Given the description of an element on the screen output the (x, y) to click on. 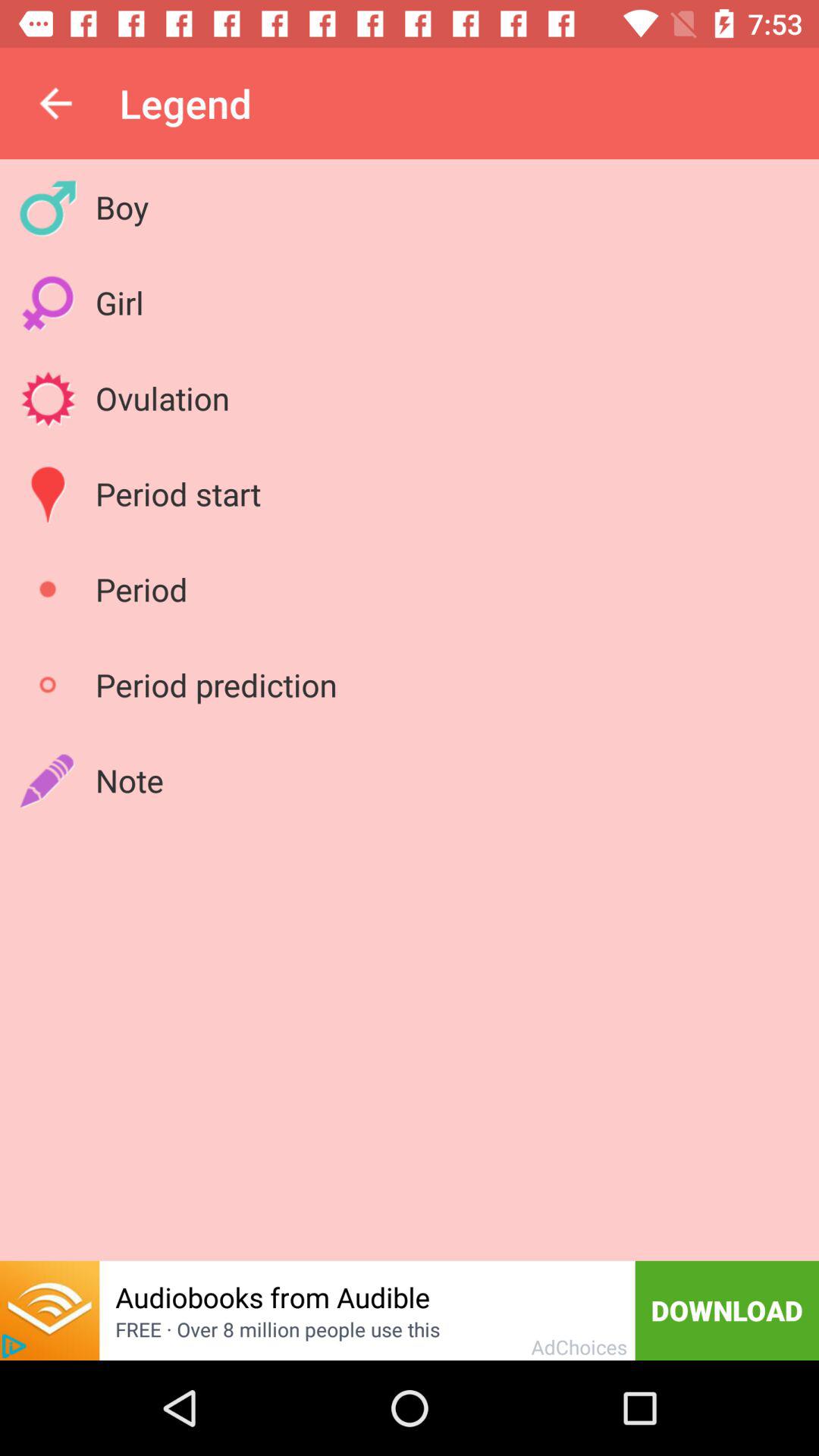
play audio (49, 1310)
